Given the description of an element on the screen output the (x, y) to click on. 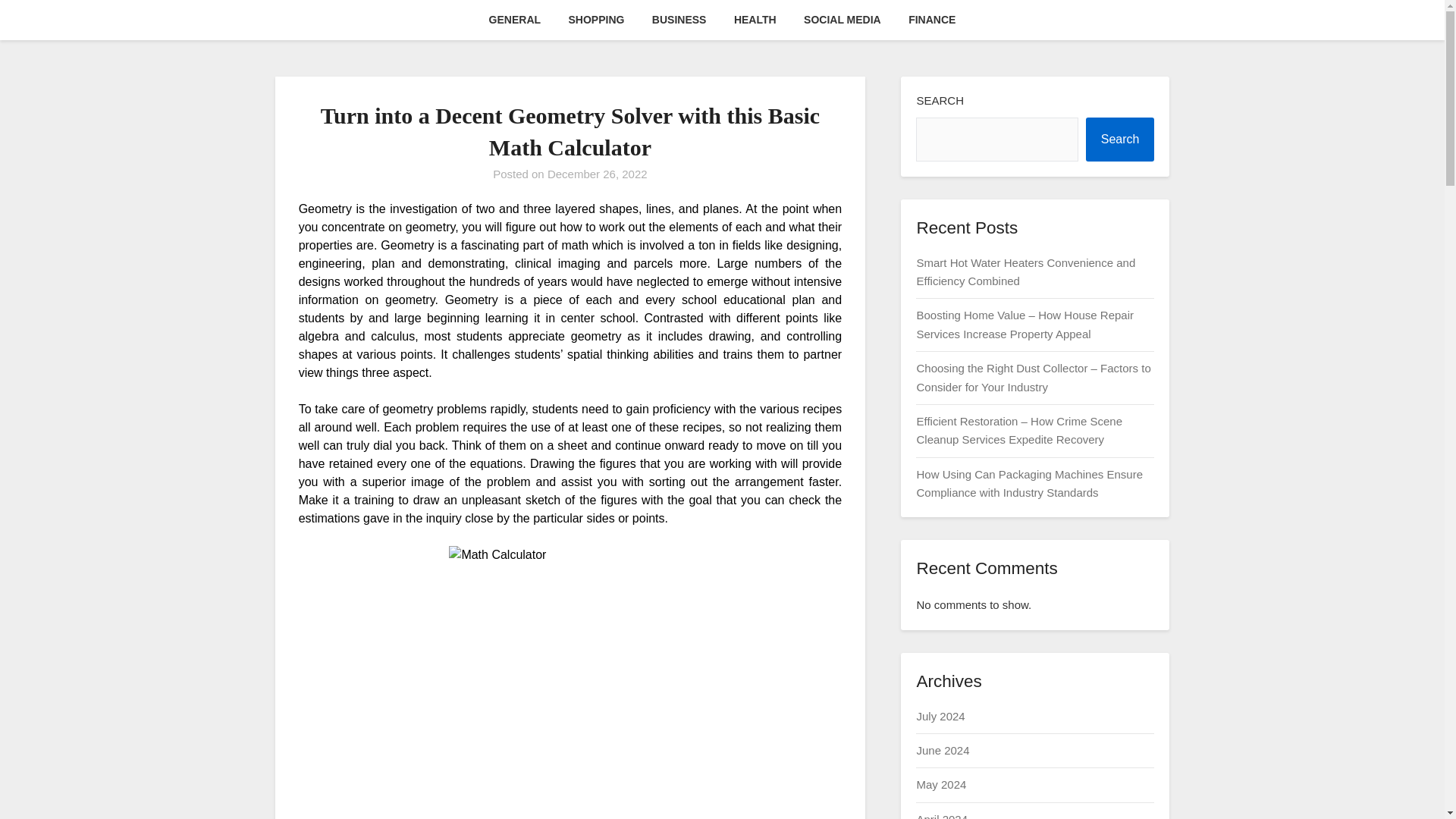
SOCIAL MEDIA (842, 20)
GENERAL (515, 20)
Search (1120, 139)
BUSINESS (679, 20)
April 2024 (941, 816)
May 2024 (940, 784)
Smart Hot Water Heaters Convenience and Efficiency Combined (1025, 271)
June 2024 (942, 749)
FINANCE (932, 20)
December 26, 2022 (597, 173)
HEALTH (755, 20)
July 2024 (939, 716)
SHOPPING (596, 20)
